Given the description of an element on the screen output the (x, y) to click on. 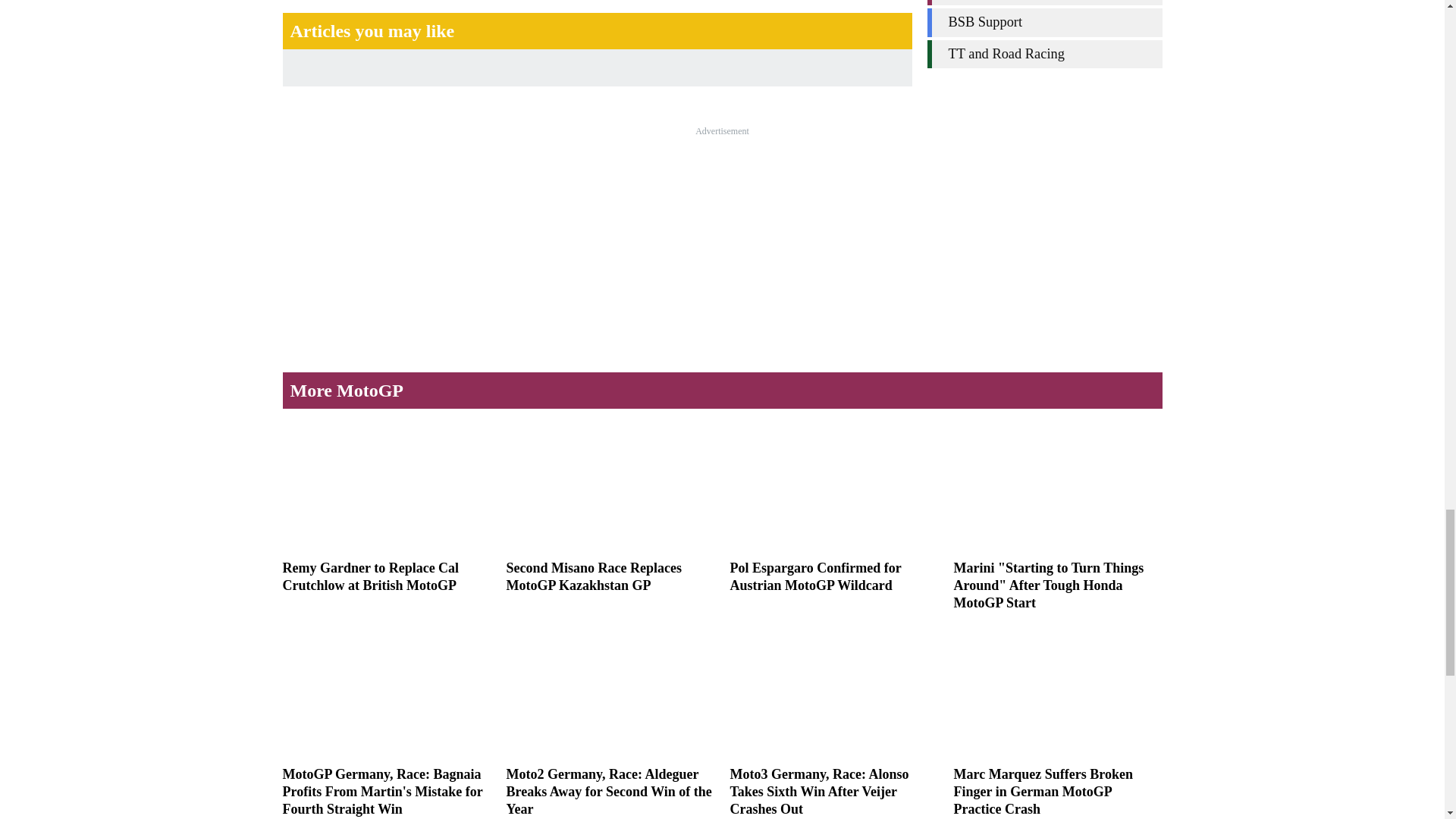
Pol Espargaro Confirmed for Austrian MotoGP Wildcard (833, 508)
Remy Gardner to Replace Cal Crutchlow at British MotoGP (386, 508)
Second Misano Race Replaces MotoGP Kazakhstan GP (610, 508)
